Given the description of an element on the screen output the (x, y) to click on. 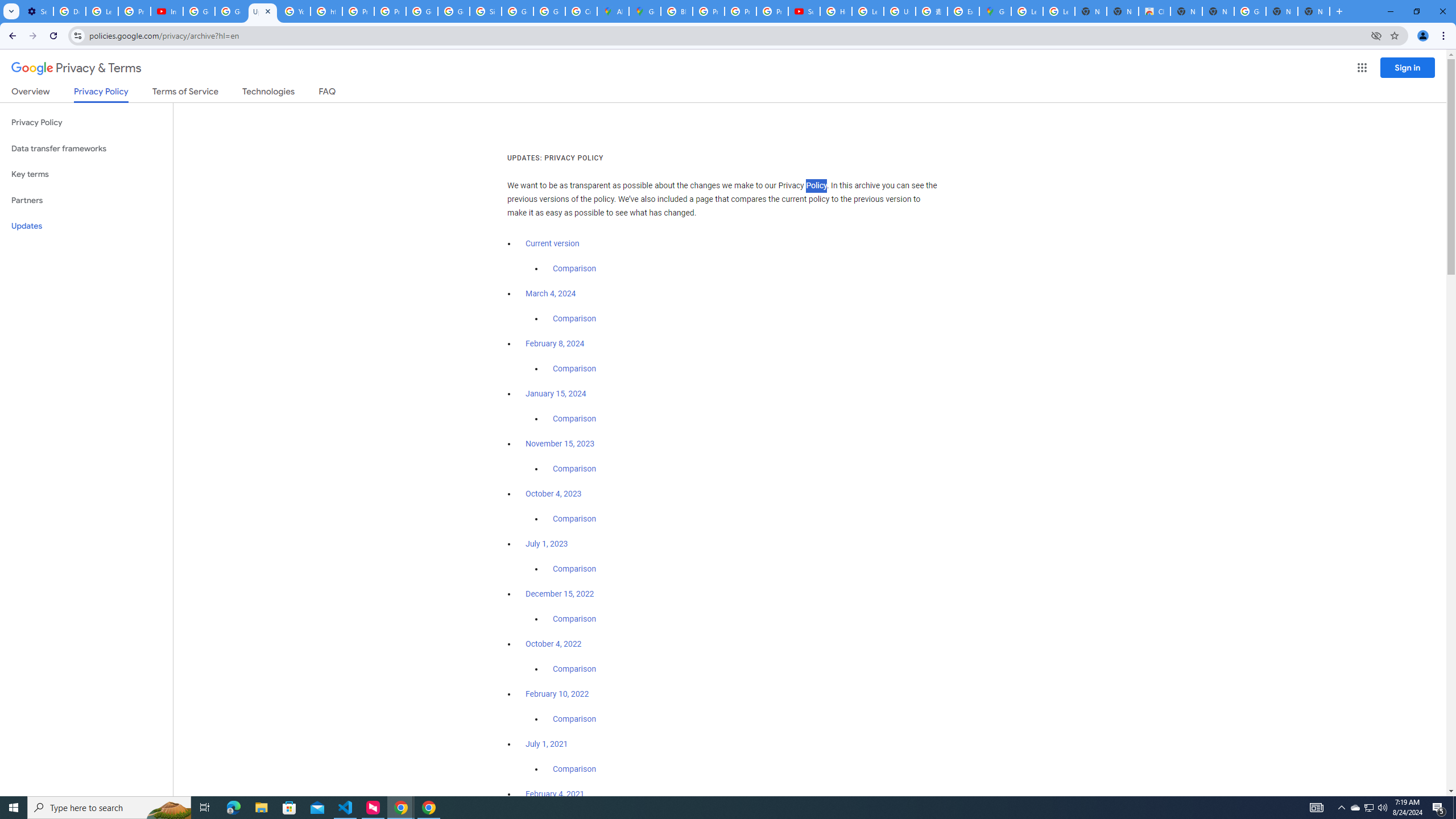
February 10, 2022 (557, 693)
Blogger Policies and Guidelines - Transparency Center (676, 11)
Delete photos & videos - Computer - Google Photos Help (69, 11)
July 1, 2021 (546, 743)
Explore new street-level details - Google Maps Help (963, 11)
October 4, 2023 (553, 493)
Create your Google Account (581, 11)
Privacy Help Center - Policies Help (358, 11)
